Given the description of an element on the screen output the (x, y) to click on. 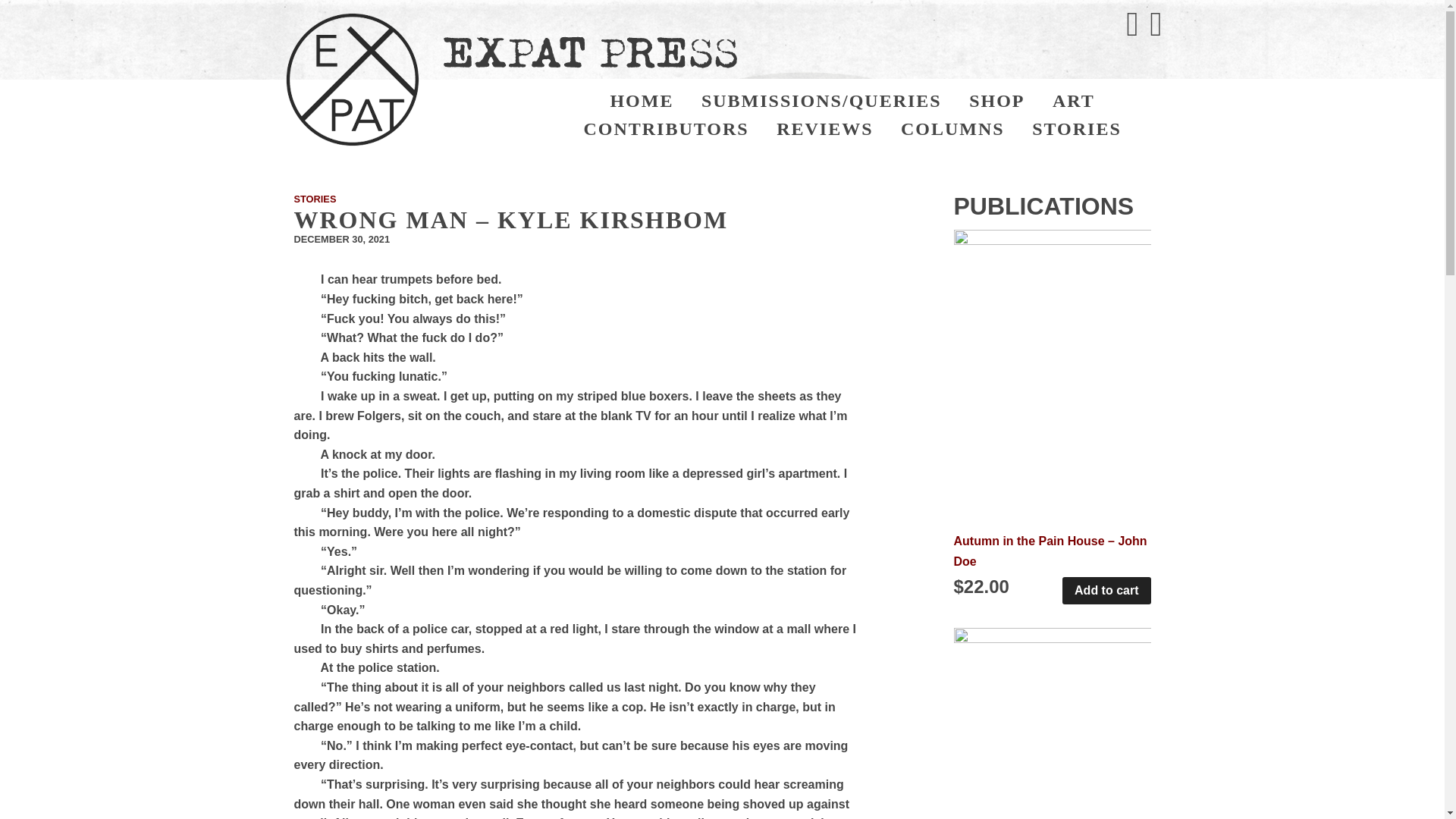
HOME (640, 100)
Add to cart (1106, 590)
STORIES (315, 198)
COLUMNS (952, 129)
ART (1073, 100)
SHOP (996, 100)
STORIES (1077, 129)
CONTRIBUTORS (665, 129)
REVIEWS (824, 129)
